Given the description of an element on the screen output the (x, y) to click on. 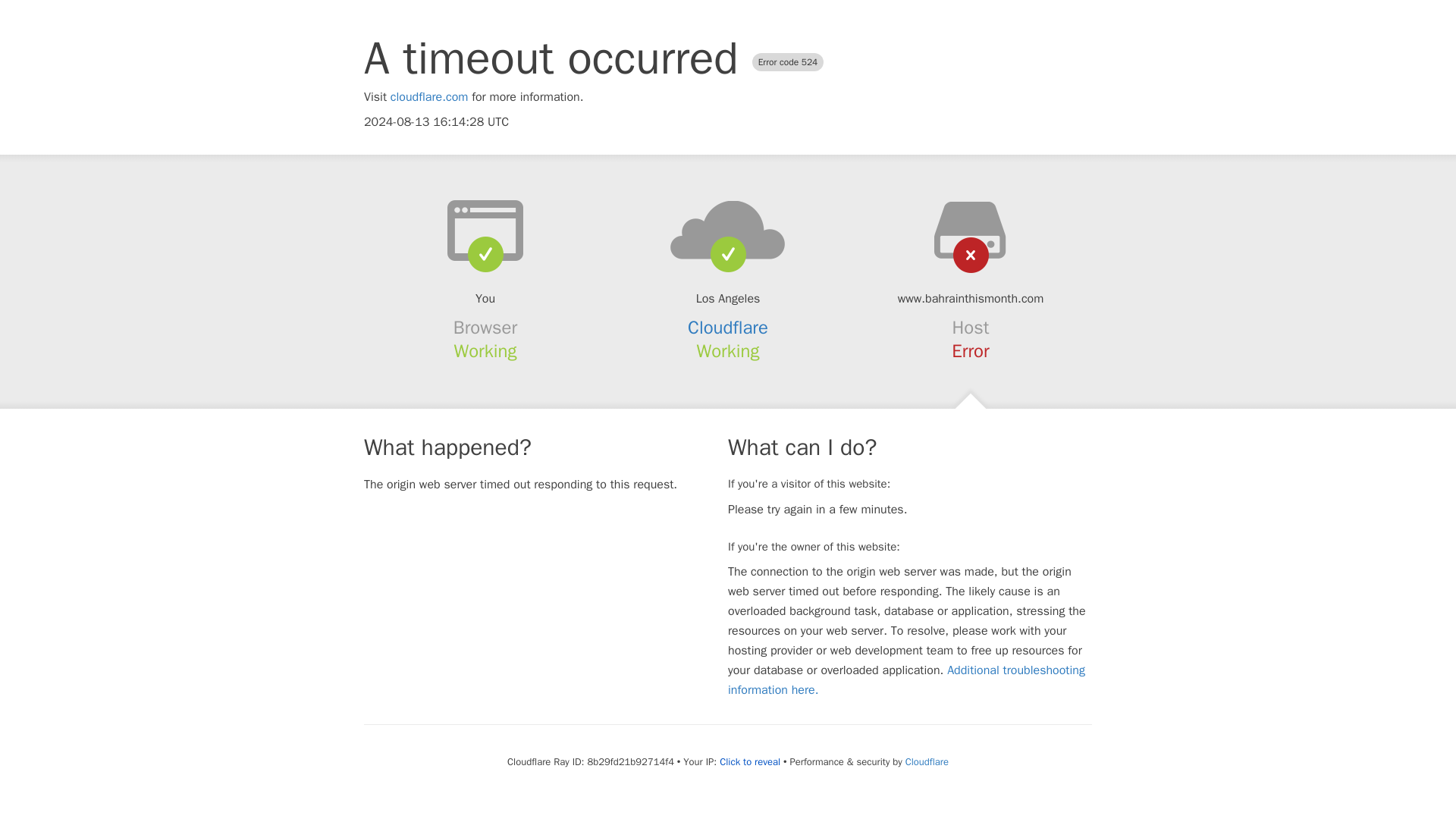
Additional troubleshooting information here. (906, 679)
Click to reveal (749, 762)
cloudflare.com (429, 96)
Cloudflare (727, 327)
Cloudflare (927, 761)
